Given the description of an element on the screen output the (x, y) to click on. 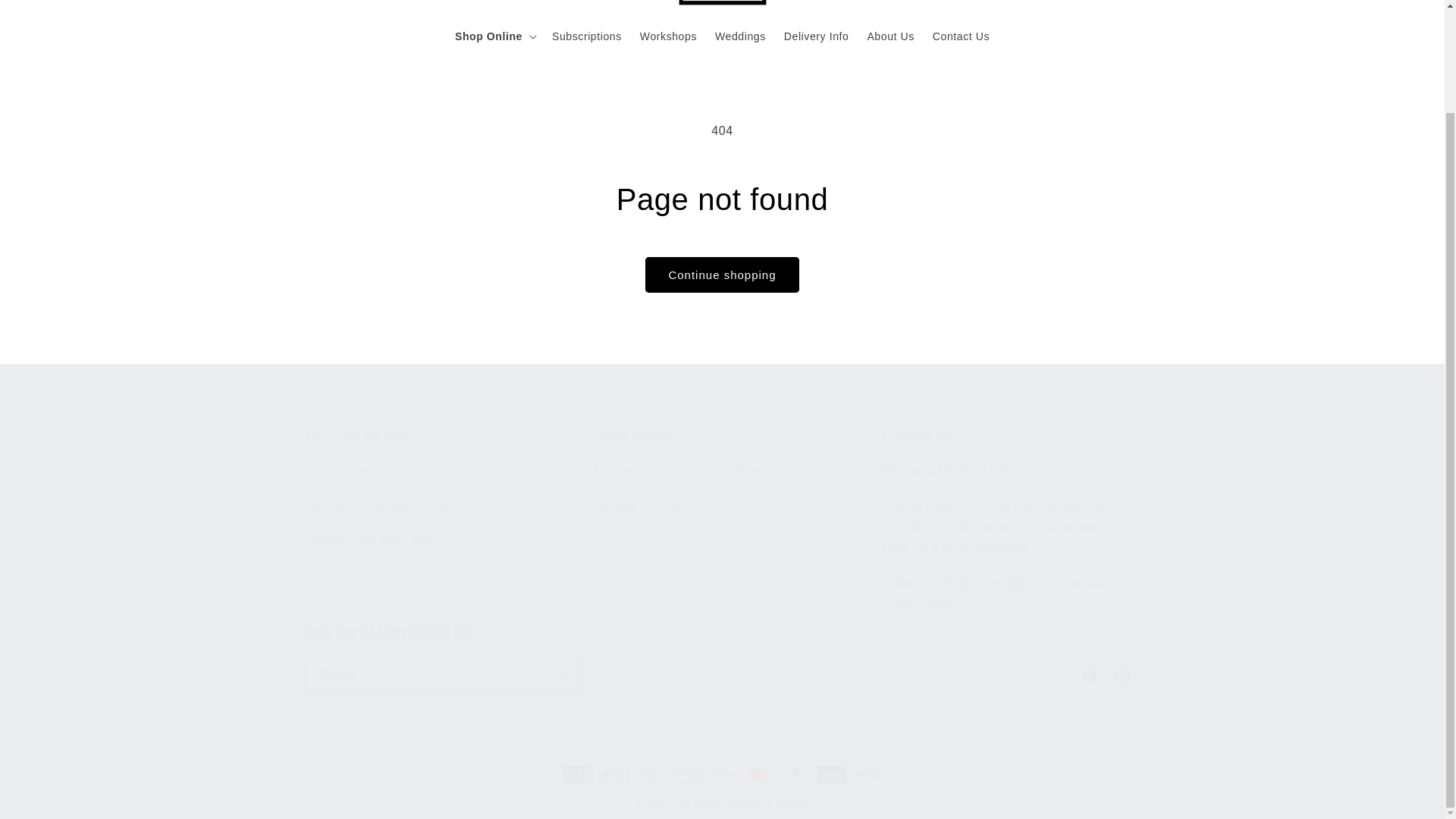
About Us (890, 35)
Weddings (740, 35)
Subscriptions (586, 35)
Contact Us (721, 521)
Delivery Info (916, 604)
E-mail us (816, 35)
Contact Us (987, 582)
Workshops (960, 35)
